Given the description of an element on the screen output the (x, y) to click on. 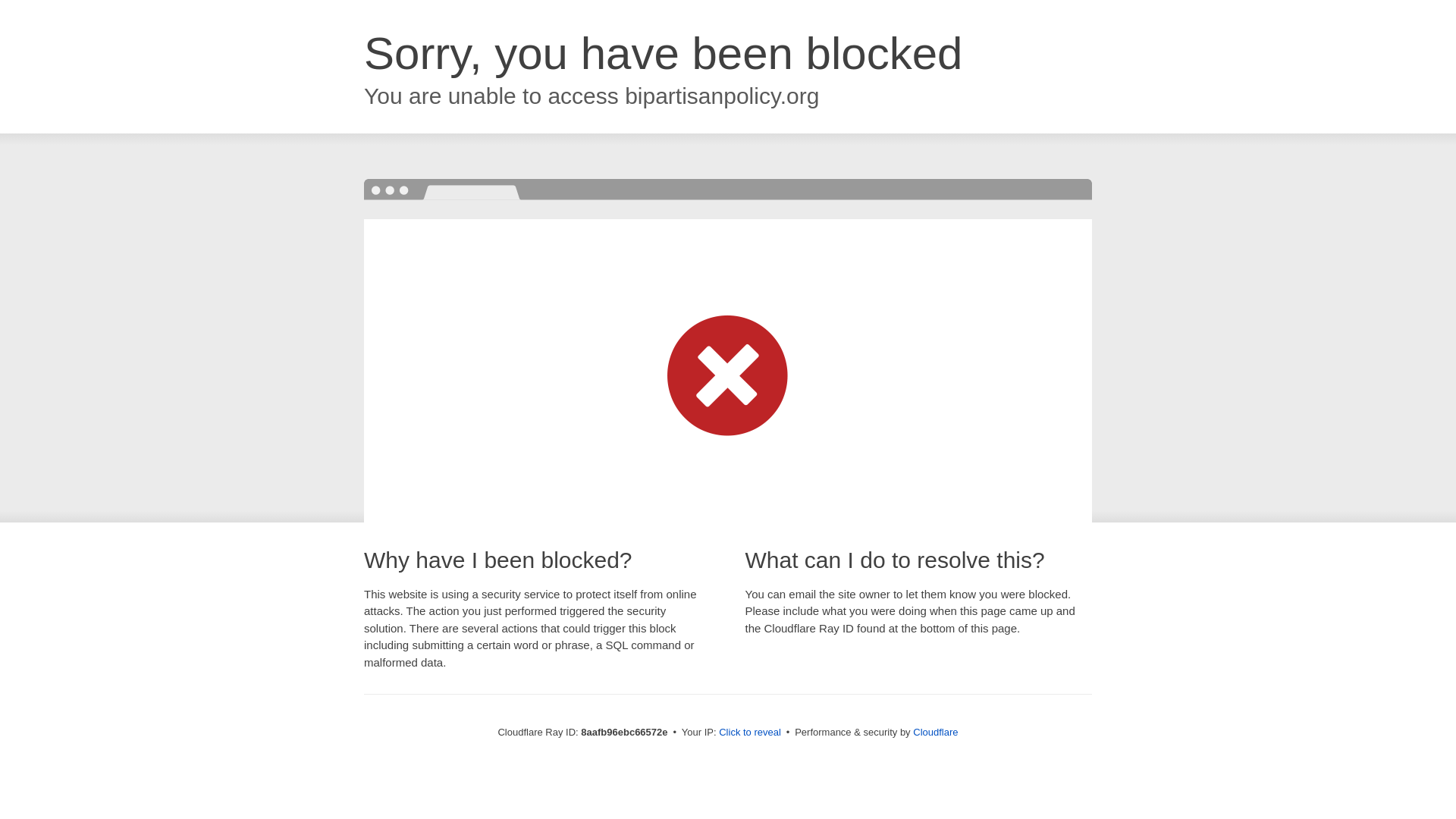
Cloudflare (935, 731)
Click to reveal (749, 732)
